Given the description of an element on the screen output the (x, y) to click on. 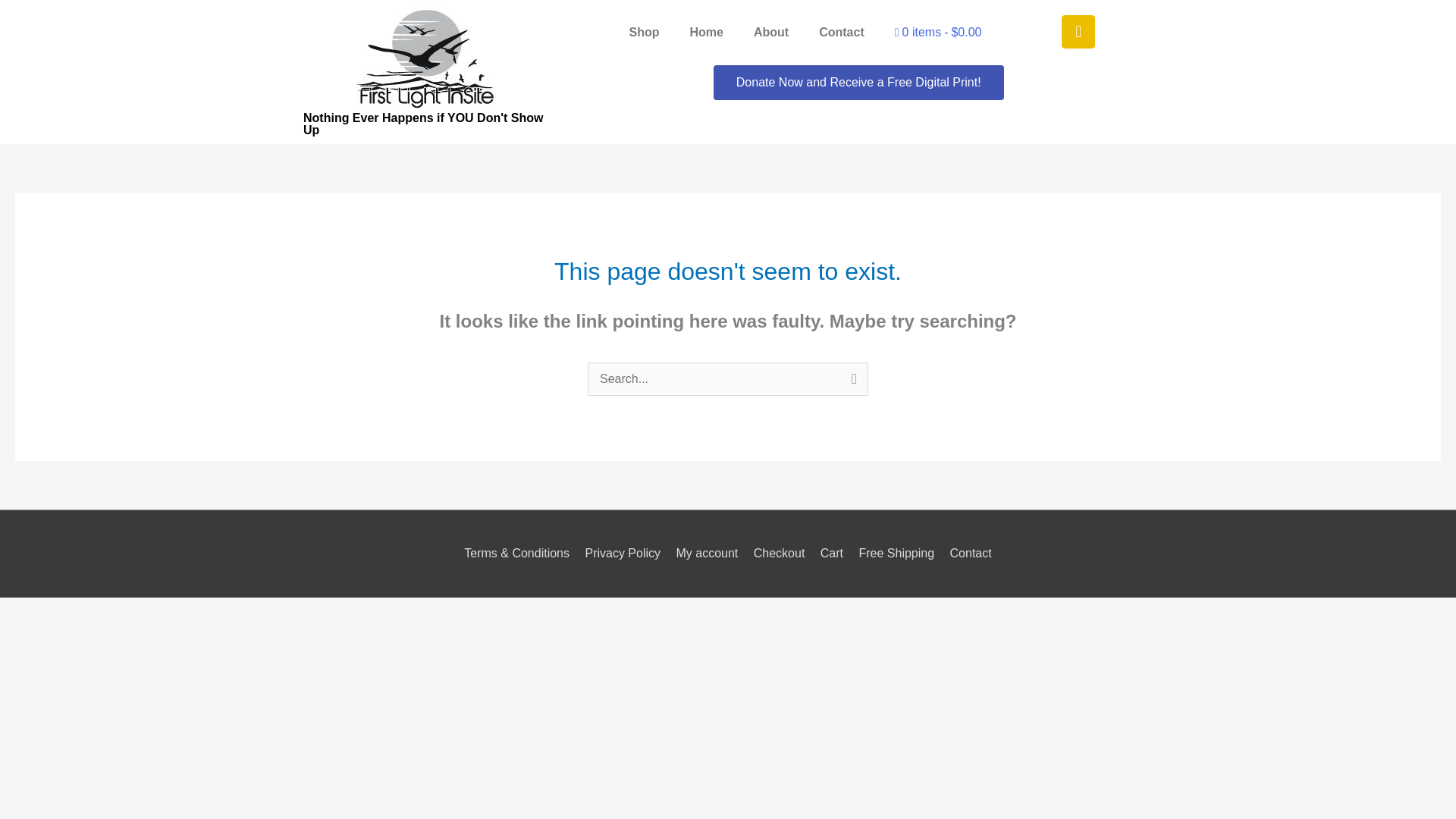
Contact (841, 32)
Home (706, 32)
Donate Now and Receive a Free Digital Print! (858, 82)
Free Shipping (895, 553)
Facebook (1077, 31)
My account (706, 553)
Checkout (779, 553)
Start shopping (938, 32)
About (770, 32)
Shop (644, 32)
Privacy Policy (622, 553)
Contact (967, 553)
Cart (830, 553)
